Given the description of an element on the screen output the (x, y) to click on. 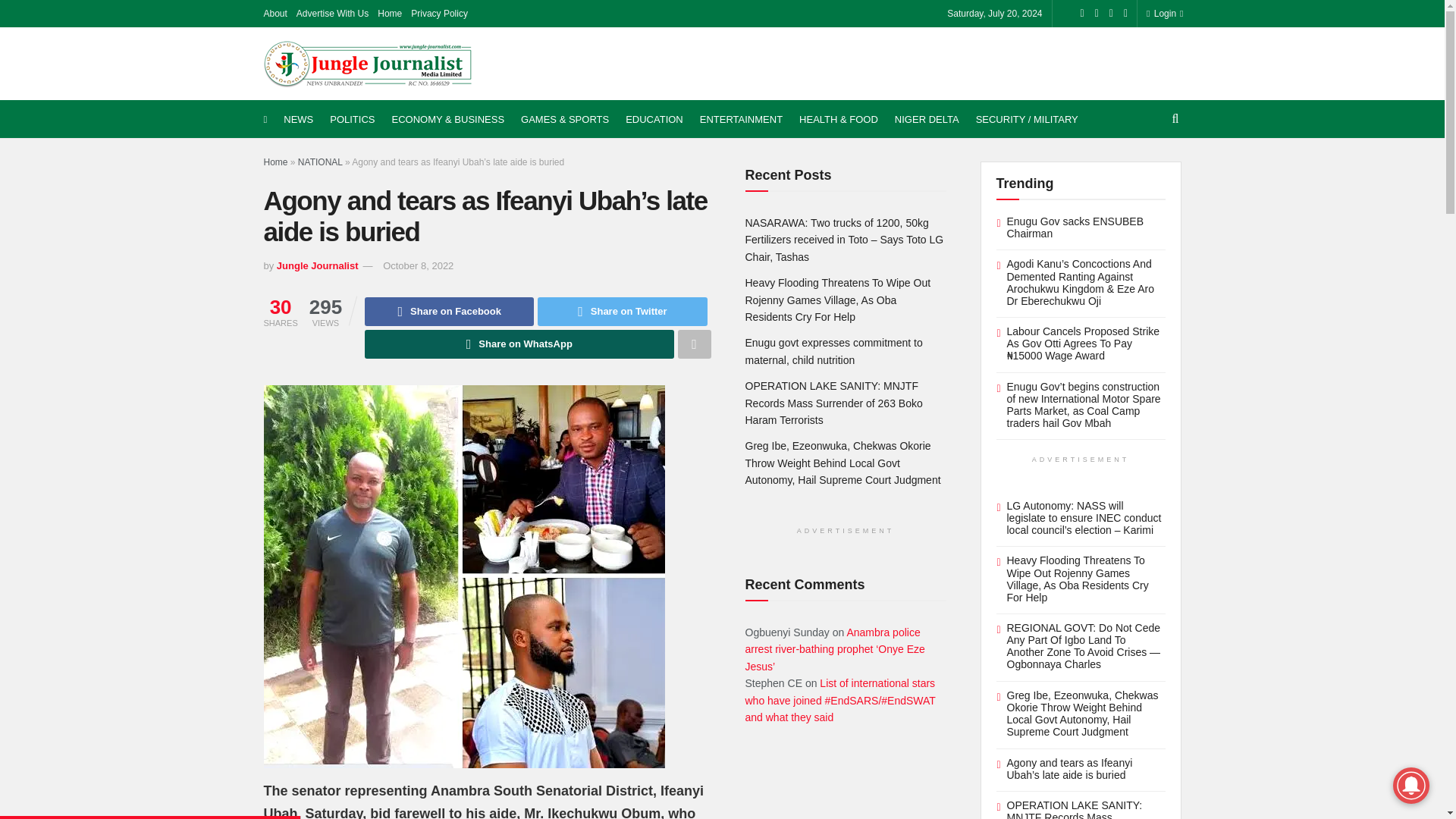
NEWS (298, 119)
Privacy Policy (438, 13)
EDUCATION (654, 119)
Advertisement (904, 61)
Advertise With Us (332, 13)
NIGER DELTA (927, 119)
POLITICS (352, 119)
Login (1161, 13)
ENTERTAINMENT (741, 119)
